Given the description of an element on the screen output the (x, y) to click on. 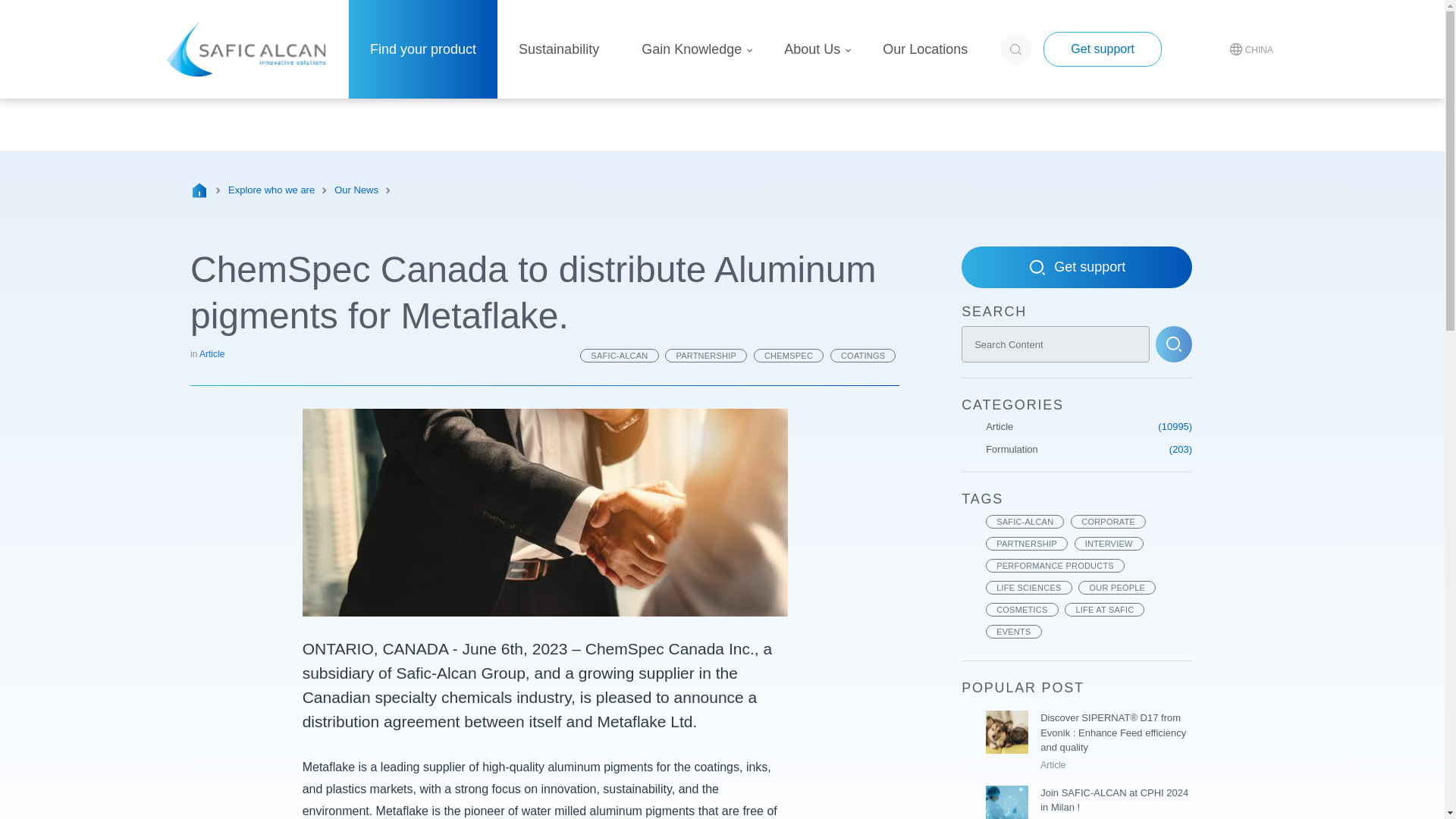
Gain Knowledge (691, 49)
Our Locations (924, 49)
Sustainability (558, 49)
Find your product (423, 49)
Get support (1102, 48)
About Us (811, 49)
